Given the description of an element on the screen output the (x, y) to click on. 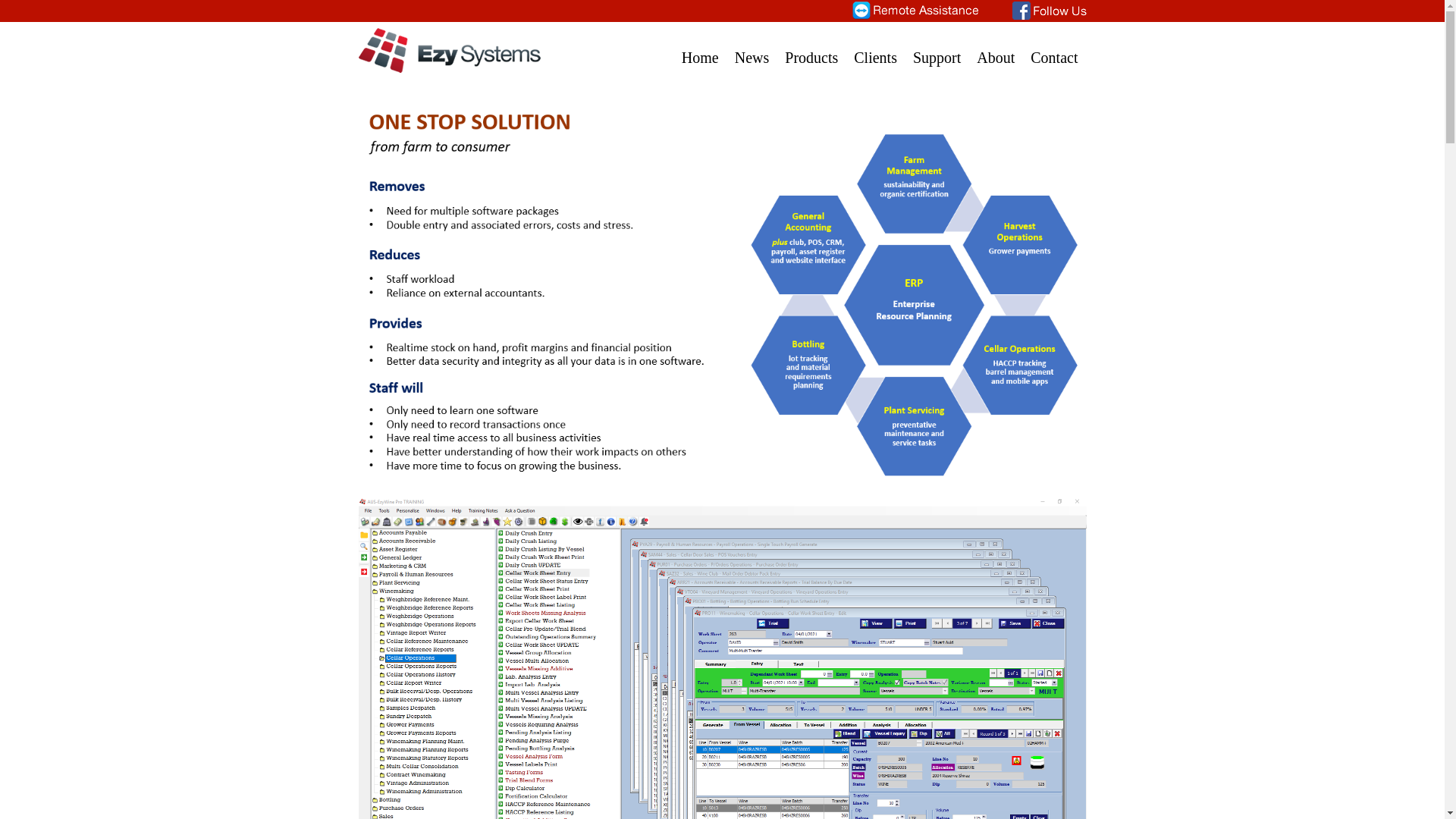
Support Element type: text (936, 48)
Clients Element type: text (875, 48)
Products Element type: text (811, 48)
Contact Element type: text (1053, 48)
News Element type: text (752, 48)
About Element type: text (995, 48)
Home Element type: text (700, 48)
